Given the description of an element on the screen output the (x, y) to click on. 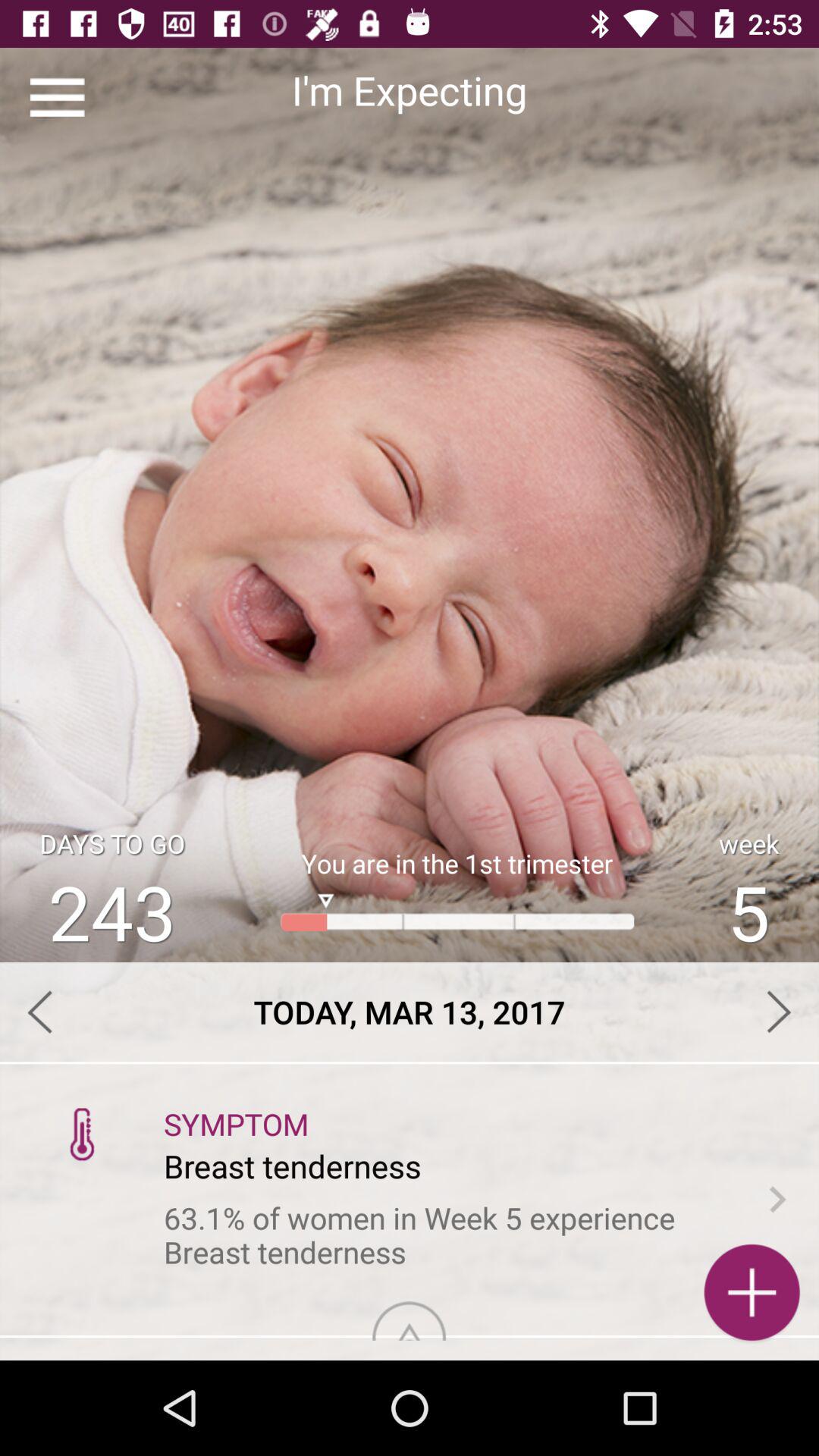
turn on the app next to the i'm expecting icon (57, 96)
